Given the description of an element on the screen output the (x, y) to click on. 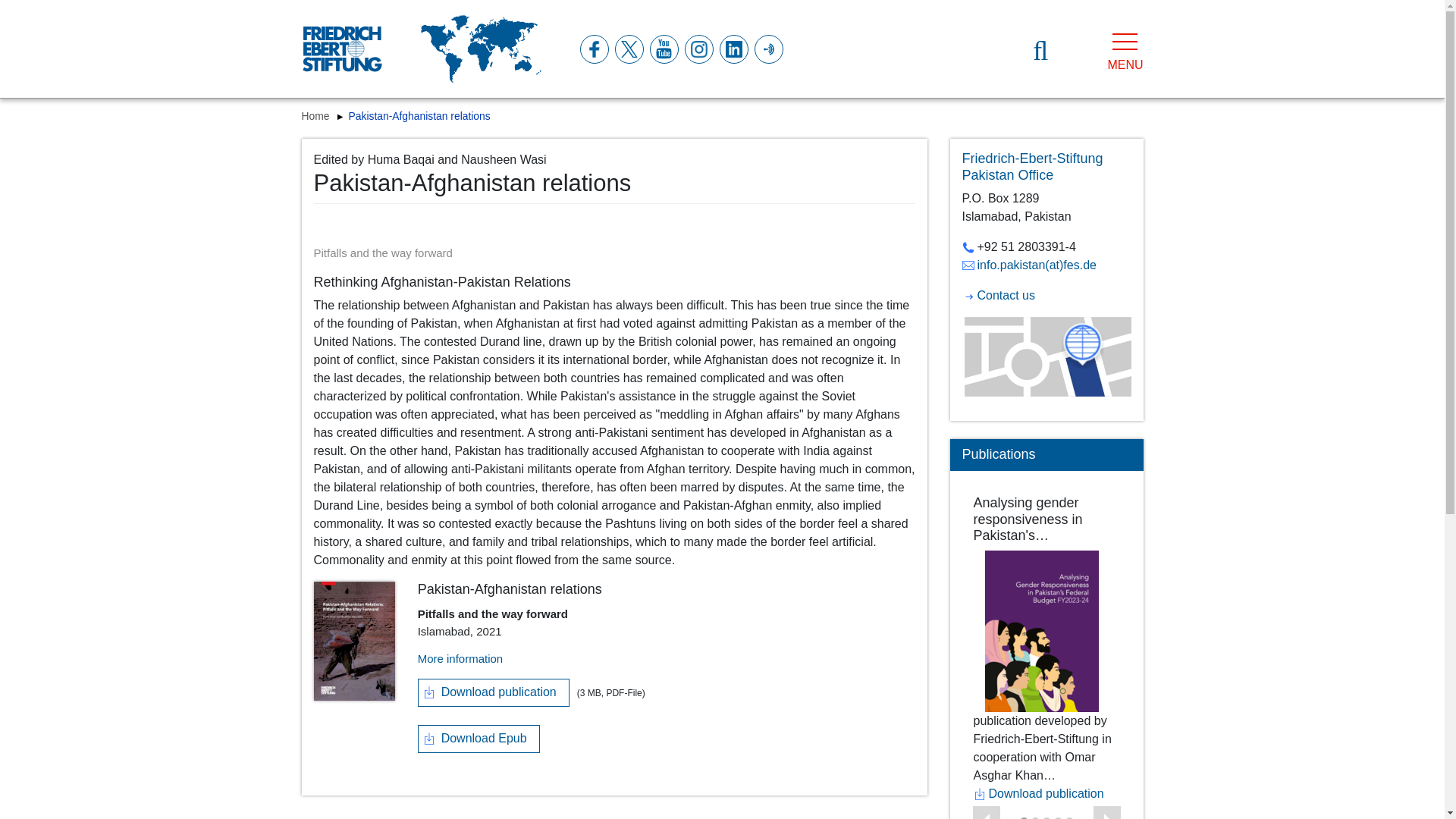
twitter (628, 48)
linkedin (733, 48)
send E-Mail (1028, 264)
Location map kontakt (1045, 356)
Internal Link (996, 295)
Link to Home Page (341, 48)
instagram (698, 48)
anchor.fm (768, 48)
Home (317, 115)
Download publication (493, 692)
facebook (593, 48)
More information (460, 658)
Location map kontakt (1045, 355)
Download Epub (478, 738)
Home of Friedrich-Ebert-Stiftung Pakistan Office (1031, 166)
